Given the description of an element on the screen output the (x, y) to click on. 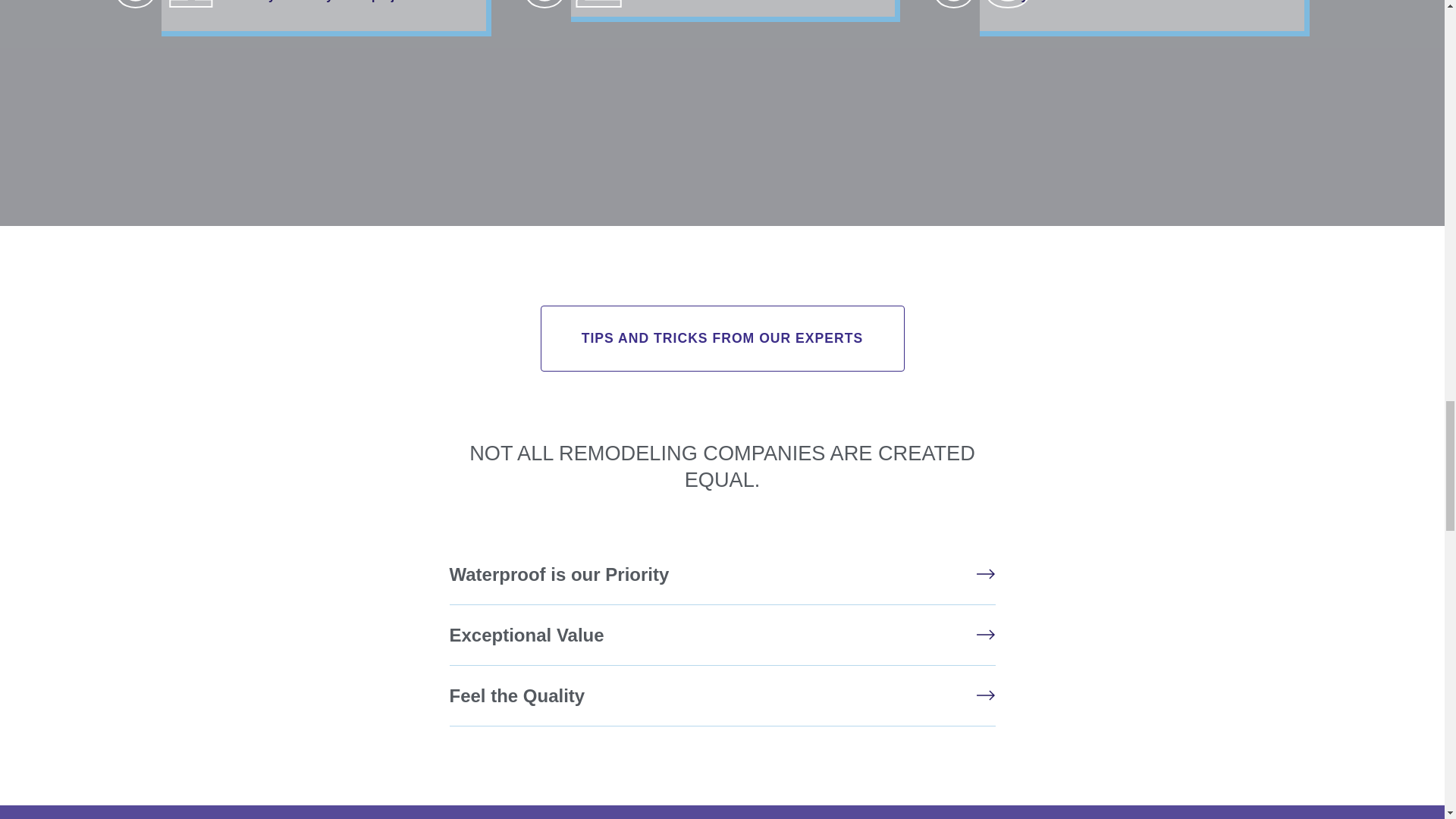
Waterproof is our Priority (558, 574)
Exceptional Value (526, 634)
TIPS AND TRICKS FROM OUR EXPERTS (722, 338)
